Given the description of an element on the screen output the (x, y) to click on. 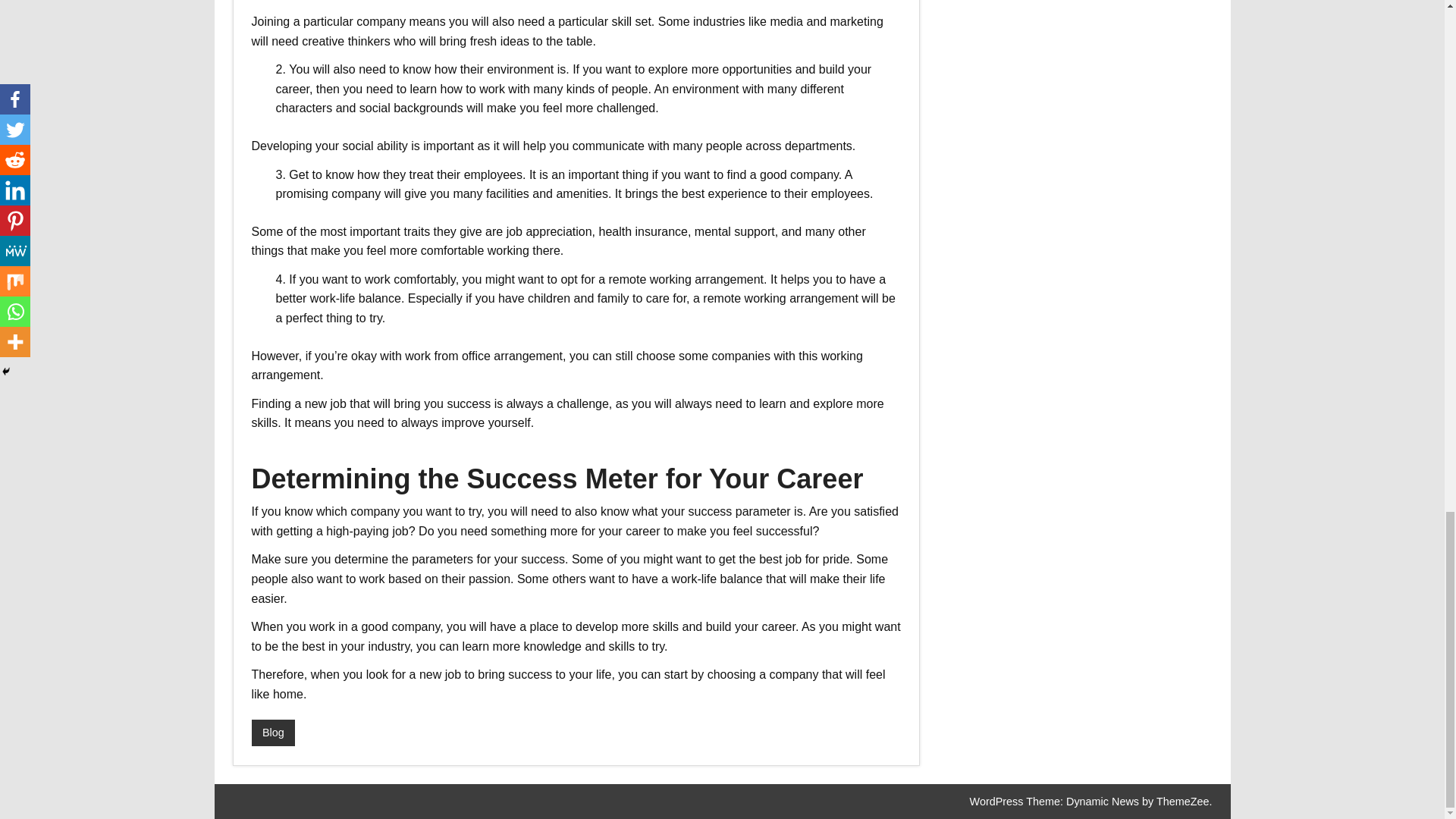
Blog (273, 732)
